Given the description of an element on the screen output the (x, y) to click on. 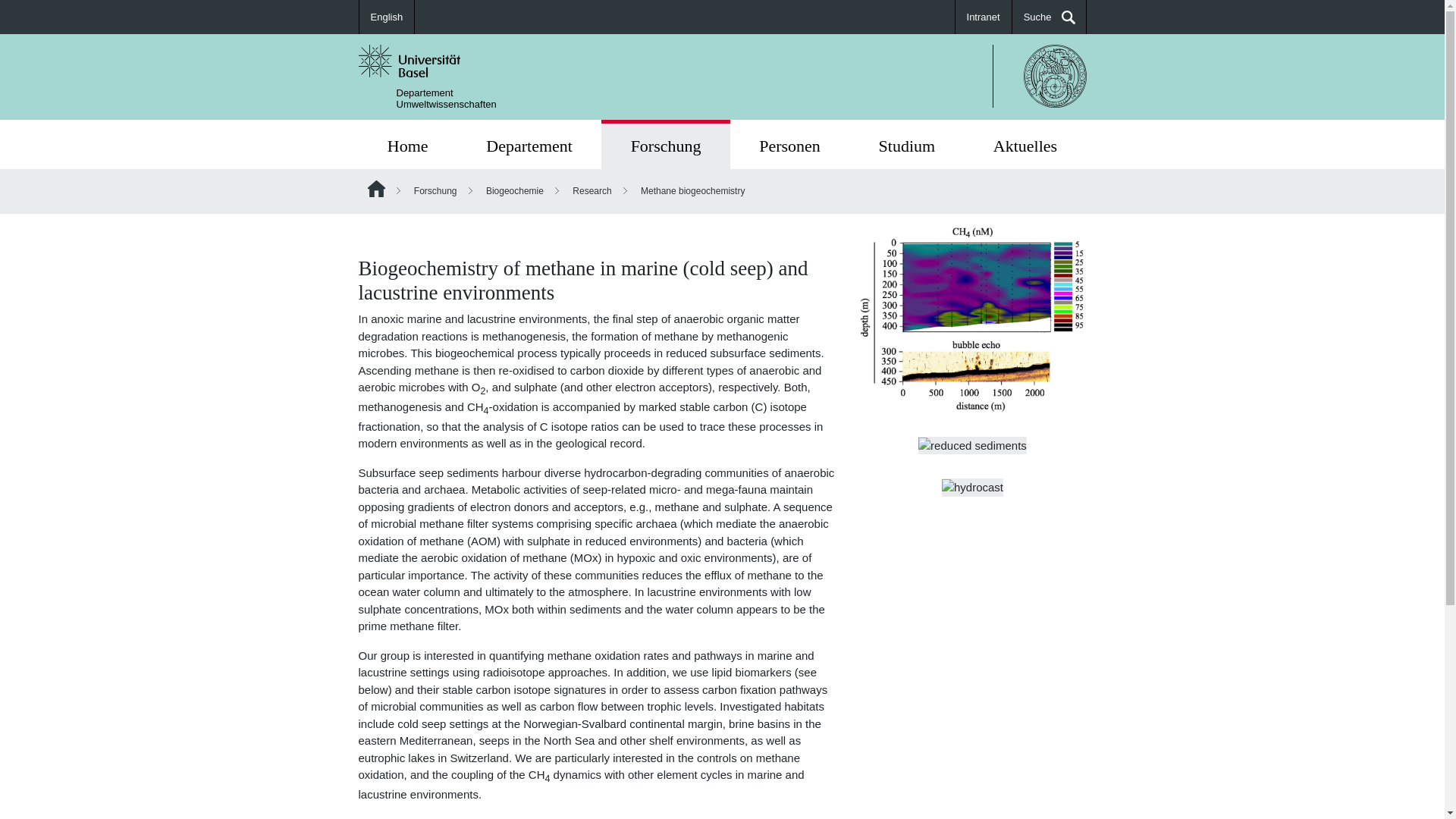
Studium (905, 143)
Personen (789, 143)
Forschung (435, 190)
English (386, 17)
Website Root (375, 188)
Aktuelles (1024, 143)
Biogeochemie (446, 97)
Home (514, 190)
Forschung (407, 143)
Home (665, 143)
Departement (407, 143)
Studium (529, 143)
Opens internal link in current window (905, 143)
Suche (374, 818)
